Given the description of an element on the screen output the (x, y) to click on. 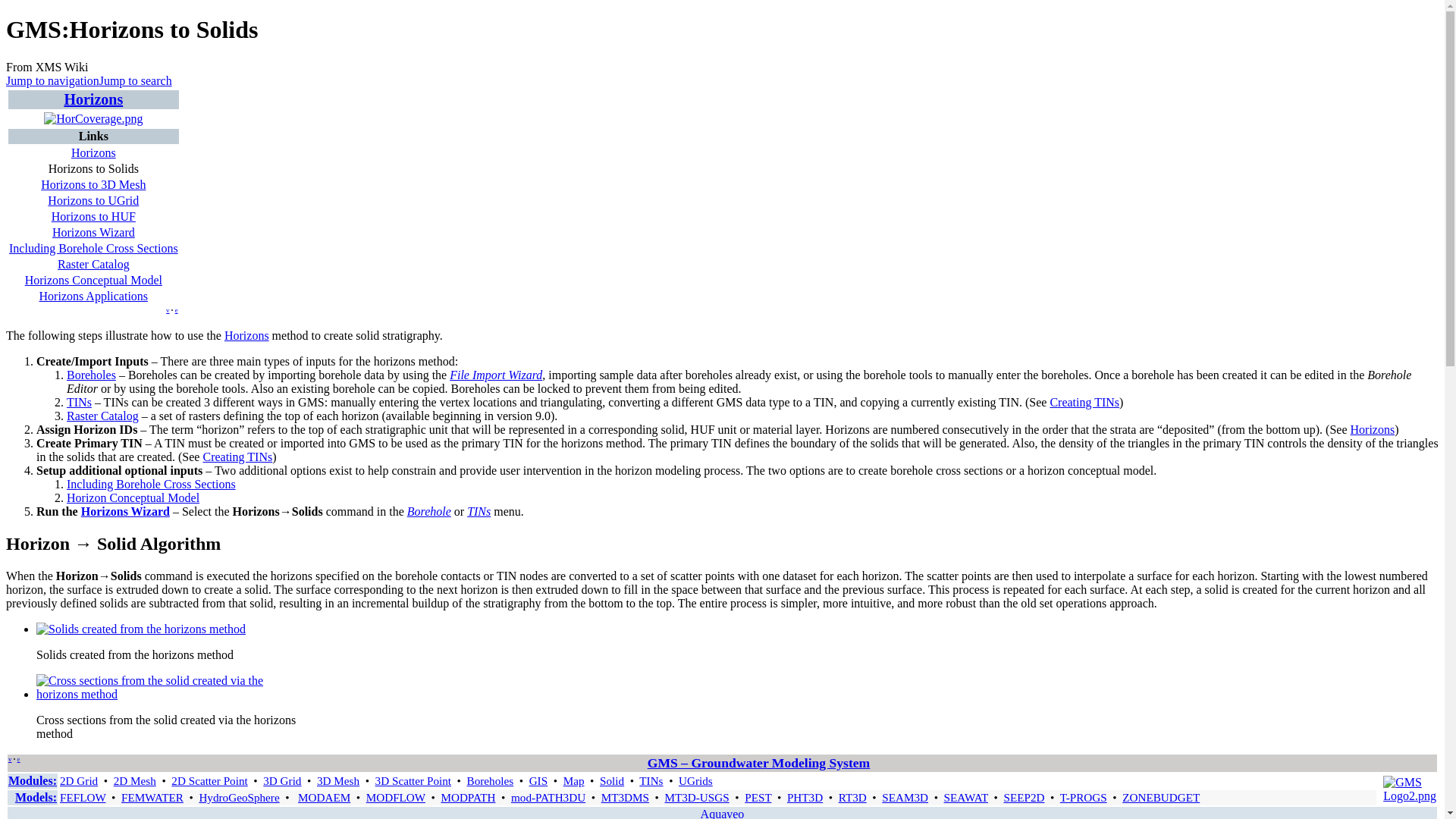
GMS:Boreholes (91, 374)
File Import Wizard (495, 374)
Jump to navigation (52, 80)
Horizons Applications (93, 295)
Boreholes (91, 374)
GMS:TIN Module (1084, 401)
GMS:Horizons Applications (93, 295)
GMS:Horizons (246, 335)
GMS:Horizons (93, 98)
Raster Catalog (93, 264)
